Given the description of an element on the screen output the (x, y) to click on. 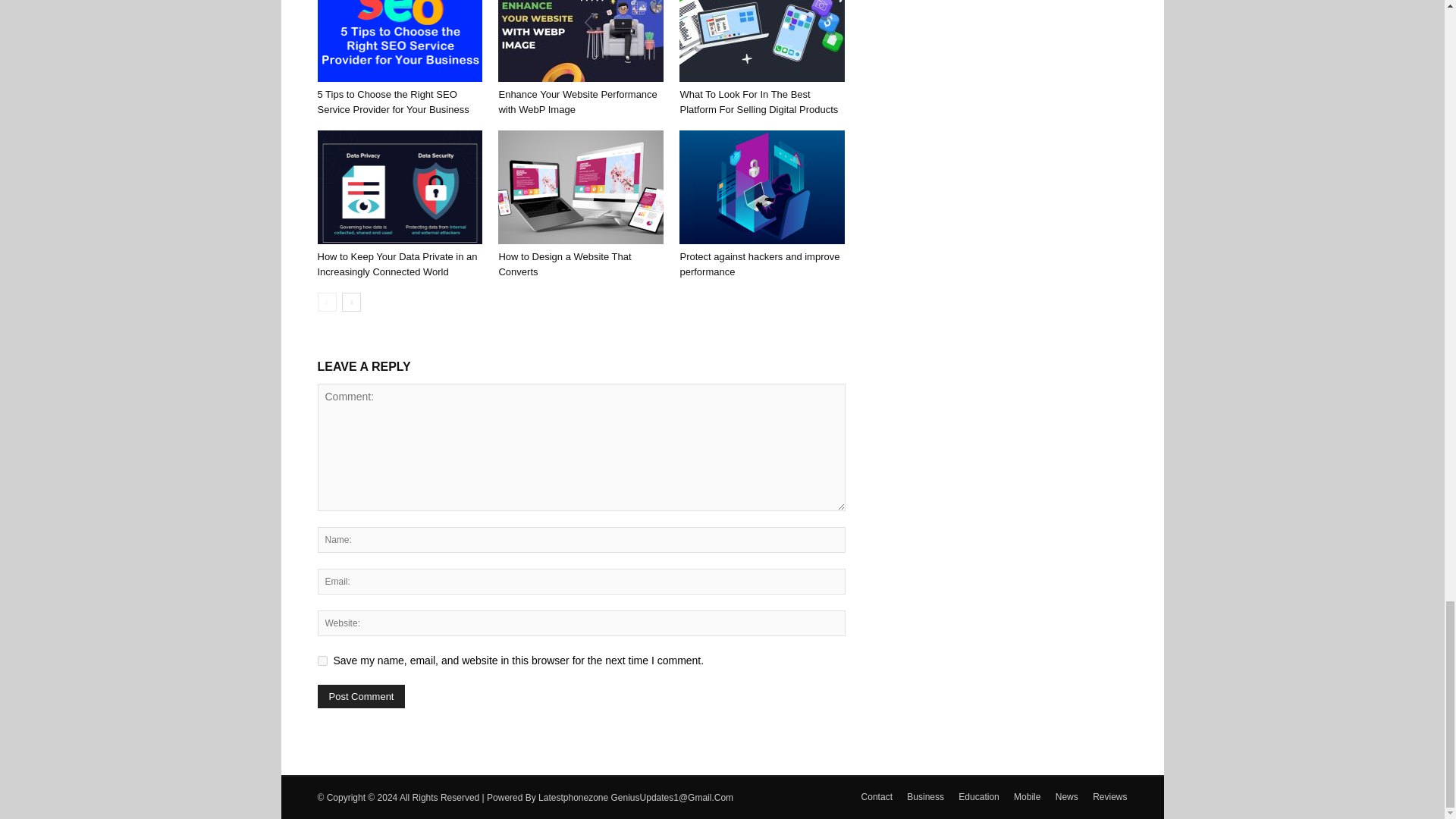
yes (321, 660)
Post Comment (360, 696)
Enhance Your Website Performance with WebP Image (580, 40)
